Given the description of an element on the screen output the (x, y) to click on. 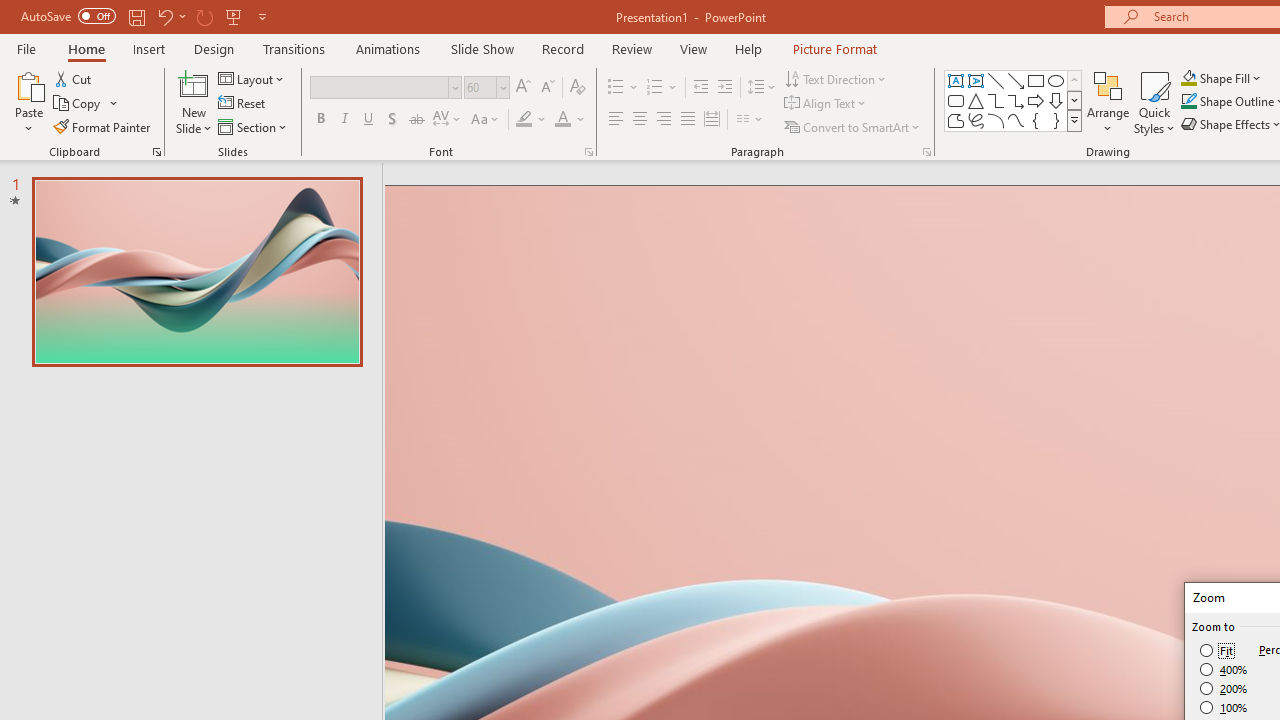
Fit (1217, 650)
Picture Format (834, 48)
